Given the description of an element on the screen output the (x, y) to click on. 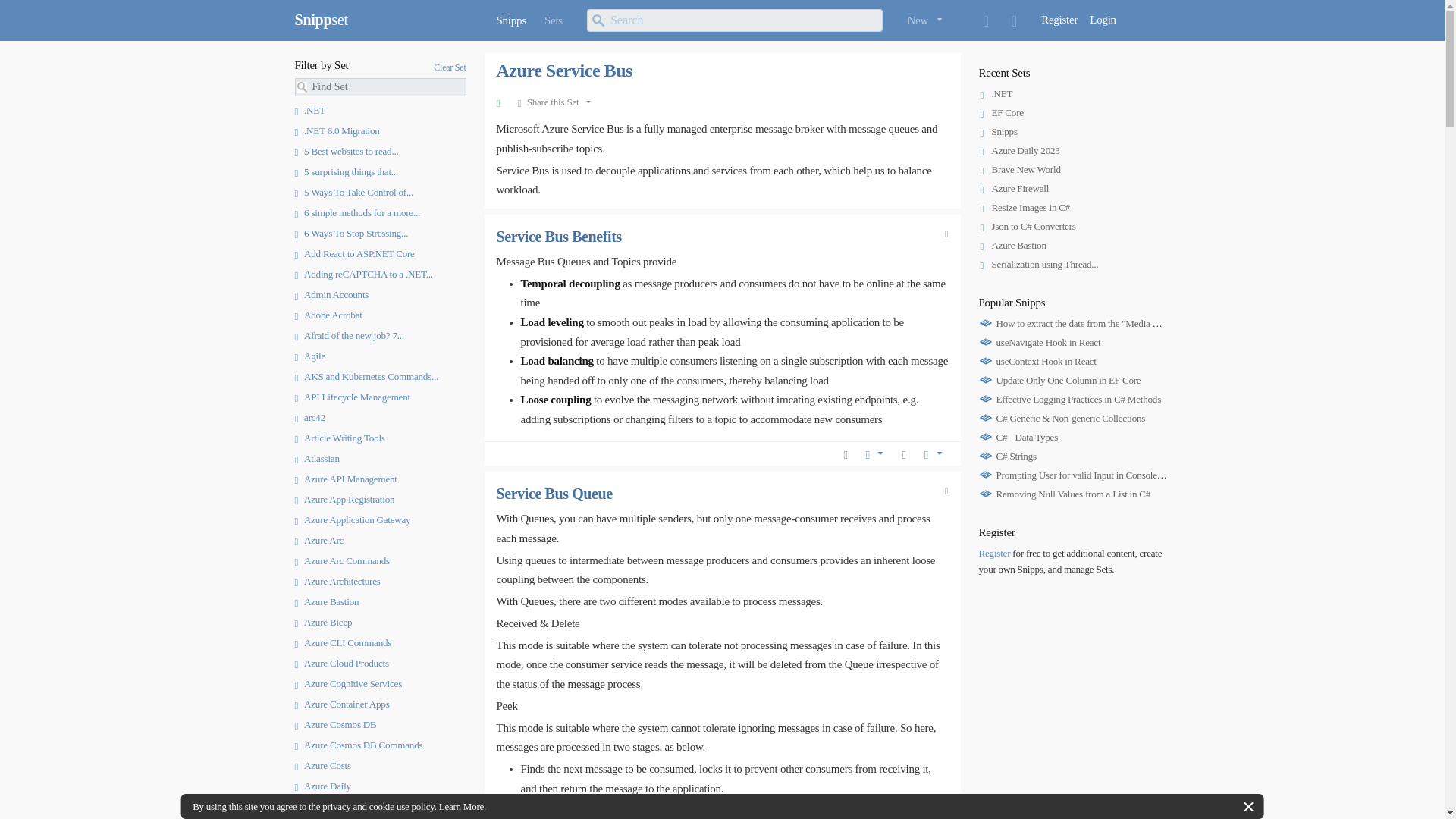
Snippset (320, 19)
5 Best websites to read... (345, 151)
Article Writing Tools (339, 437)
Azure Application Gateway (352, 519)
Add React to ASP.NET Core (353, 253)
New (924, 19)
Azure App Registration (344, 499)
5 surprising things that... (345, 171)
Snipps (510, 19)
Atlassian (316, 458)
6 Ways To Stop Stressing... (350, 233)
Clear Set (449, 67)
5 Best websites to read books online free with no downloads (345, 151)
Admin Accounts (331, 294)
Atlassian (316, 458)
